Given the description of an element on the screen output the (x, y) to click on. 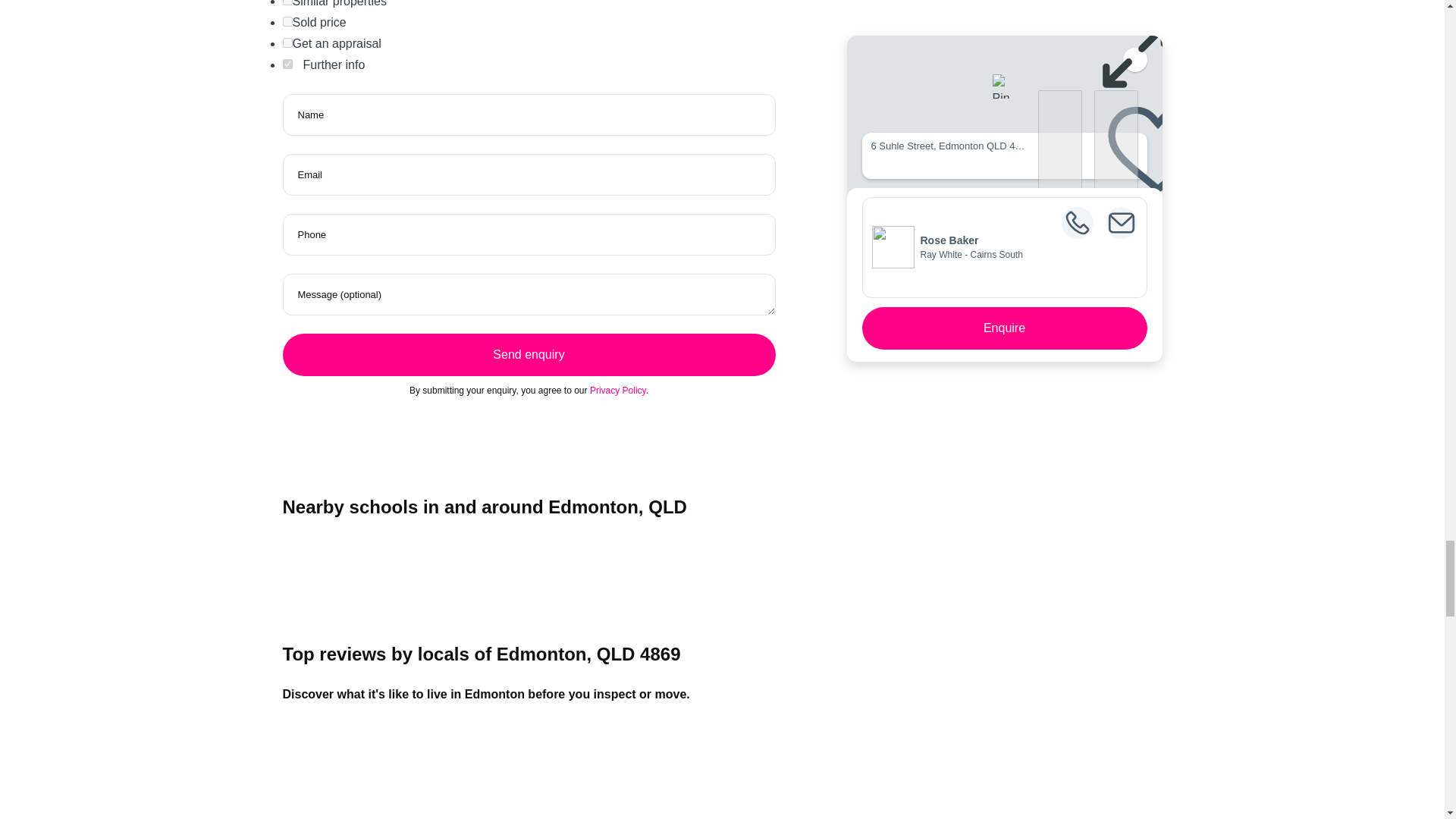
Send enquiry (528, 354)
9 (287, 42)
11 (287, 63)
4 (287, 2)
8 (287, 21)
Privacy Policy (617, 389)
